Given the description of an element on the screen output the (x, y) to click on. 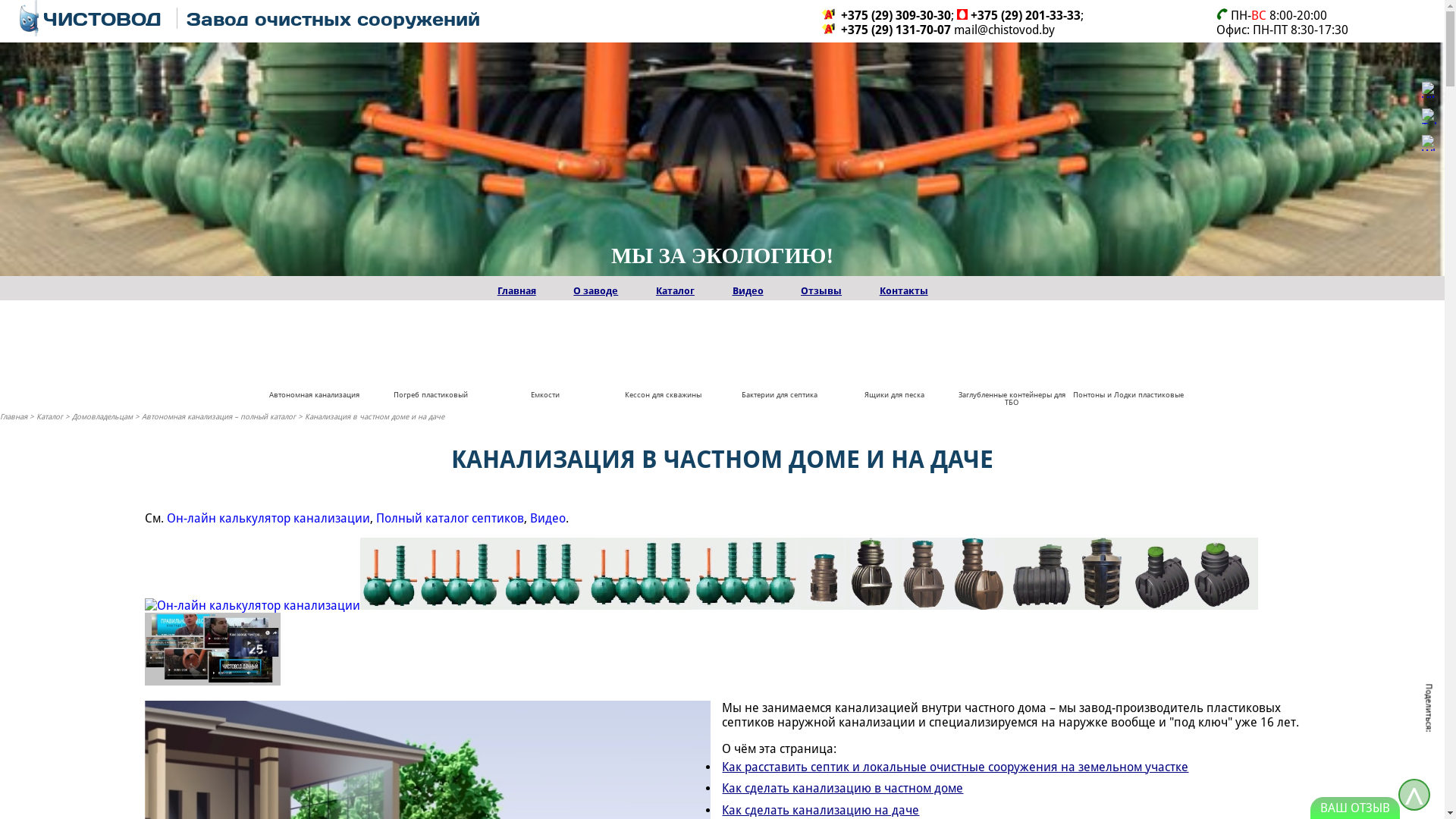
+375 (29) 201-33-33 Element type: text (1025, 15)
+375 (29) 309-30-30 Element type: text (895, 15)
+375 (29) 131-70-07 Element type: text (895, 29)
